Given the description of an element on the screen output the (x, y) to click on. 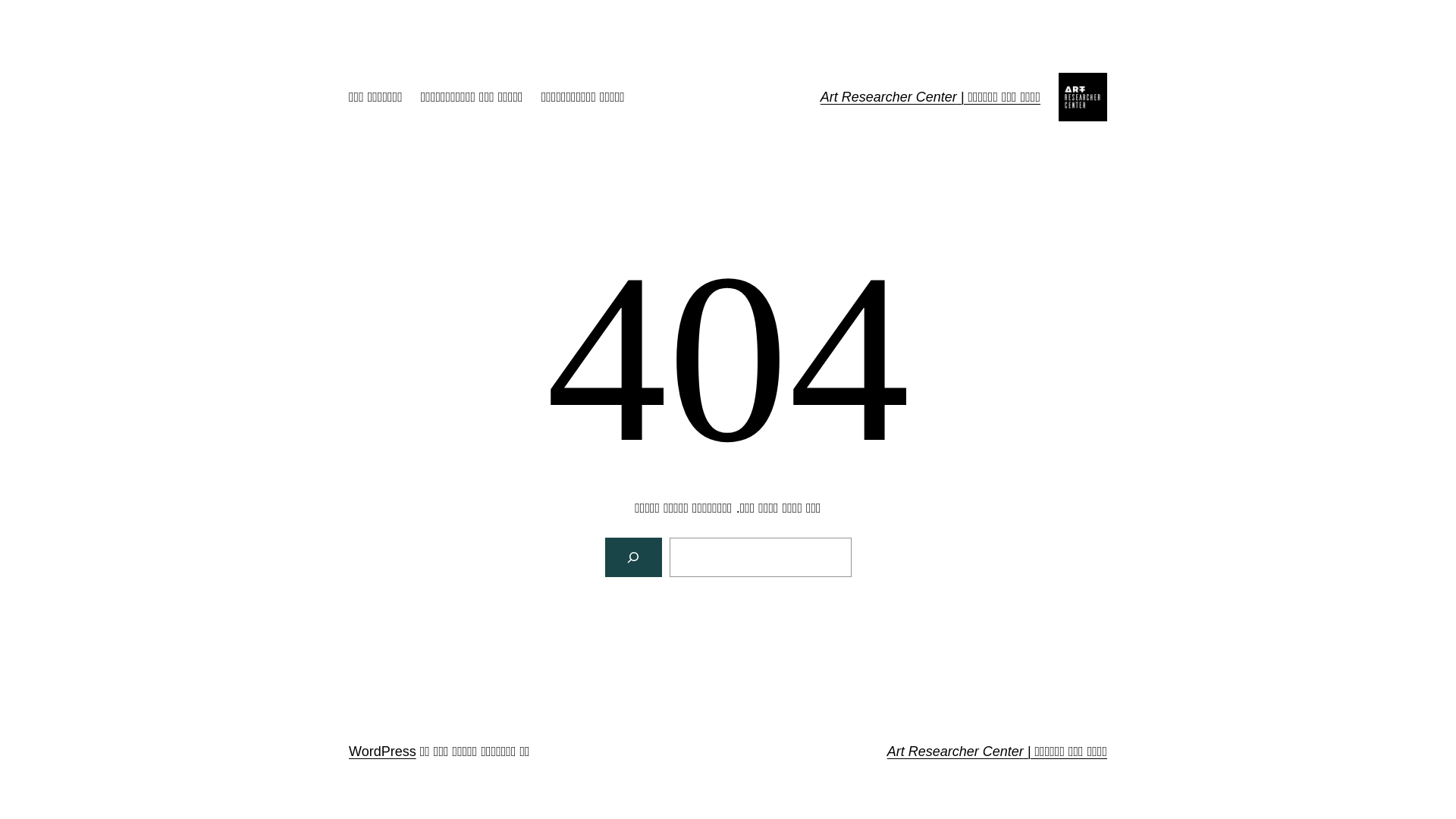
WordPress Element type: text (382, 751)
